Given the description of an element on the screen output the (x, y) to click on. 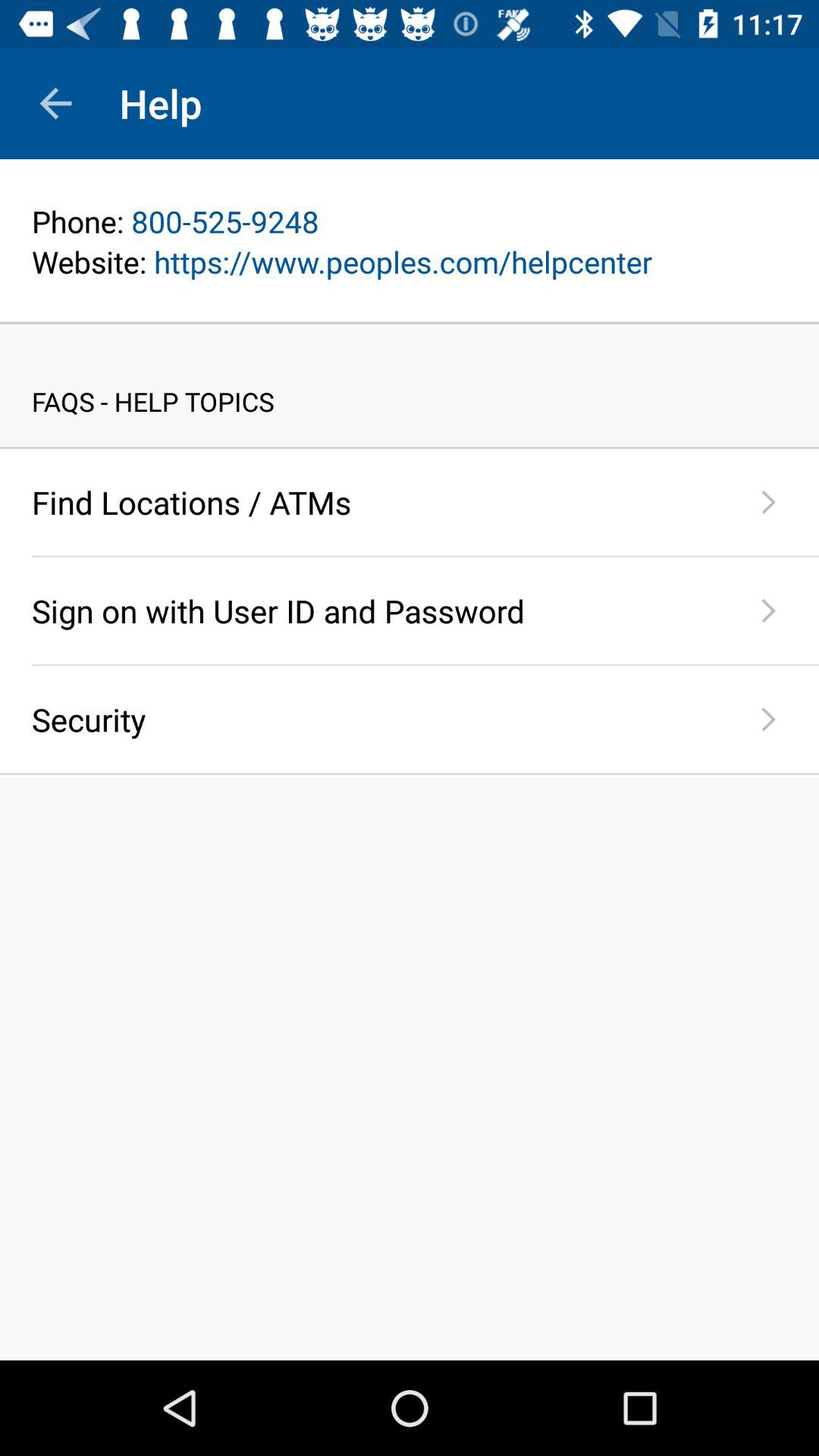
turn off the app above website https www (409, 221)
